Given the description of an element on the screen output the (x, y) to click on. 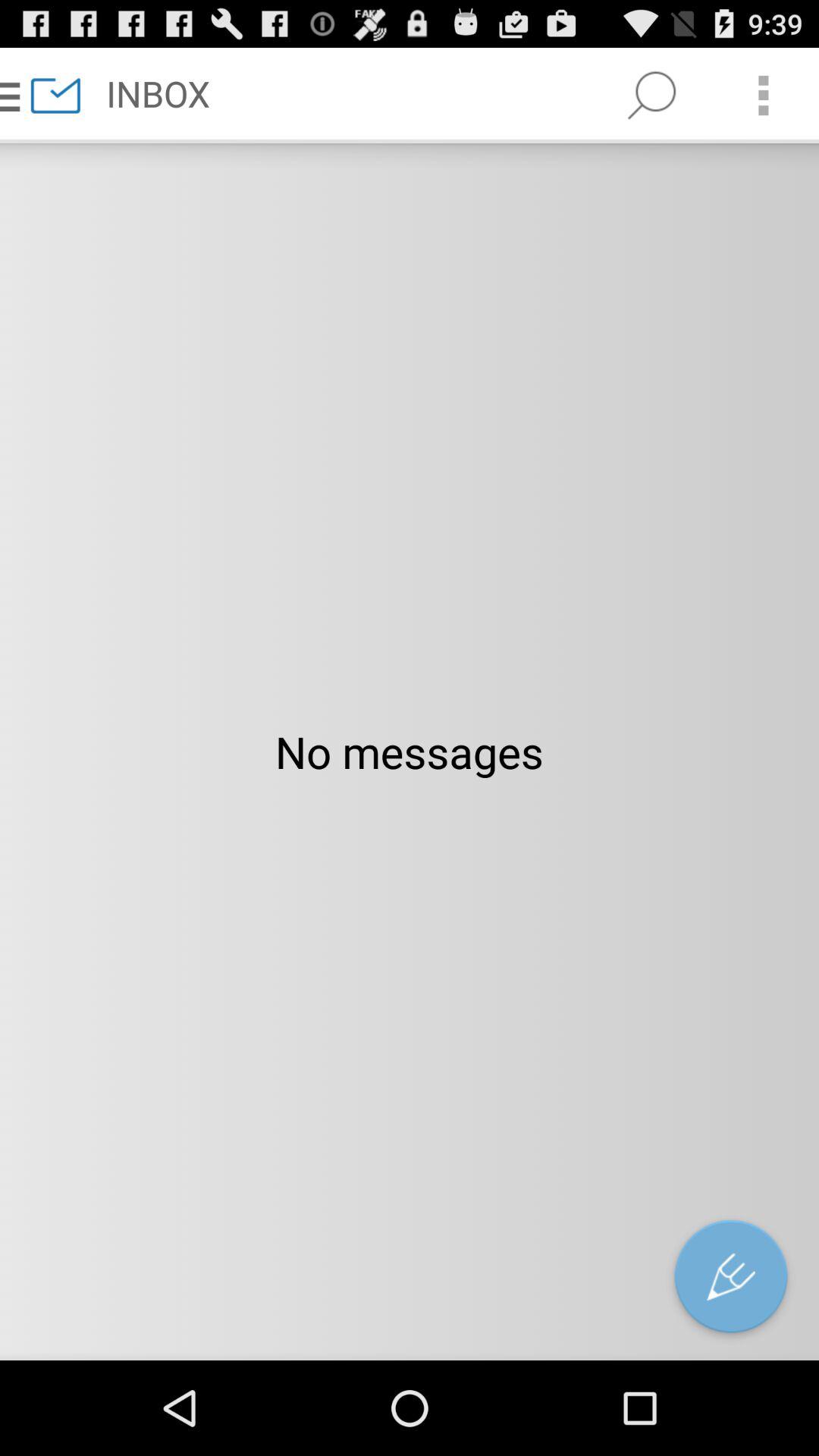
enables editing with a wtiting tool (730, 1280)
